Given the description of an element on the screen output the (x, y) to click on. 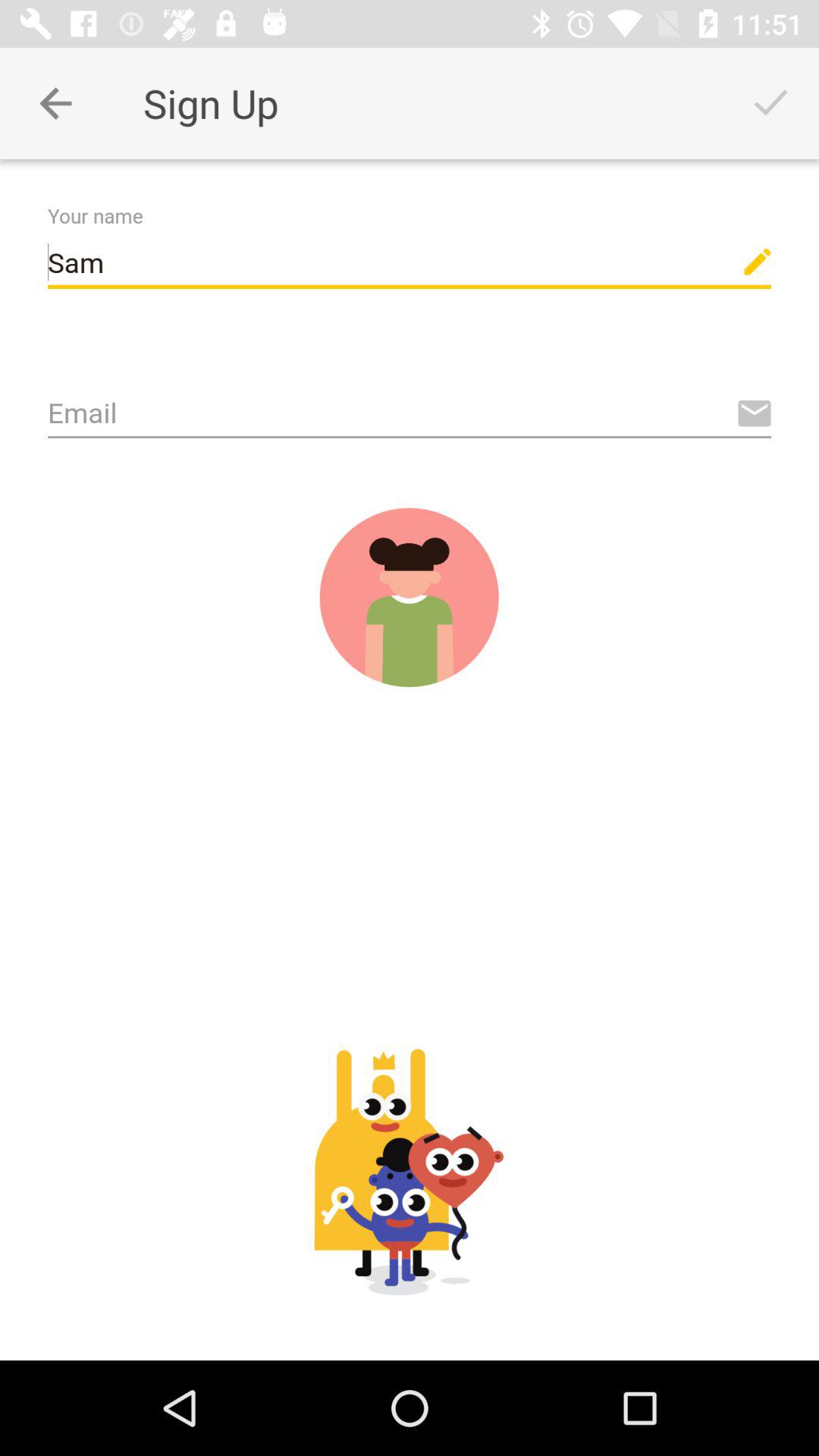
form fill the email address (409, 413)
